Given the description of an element on the screen output the (x, y) to click on. 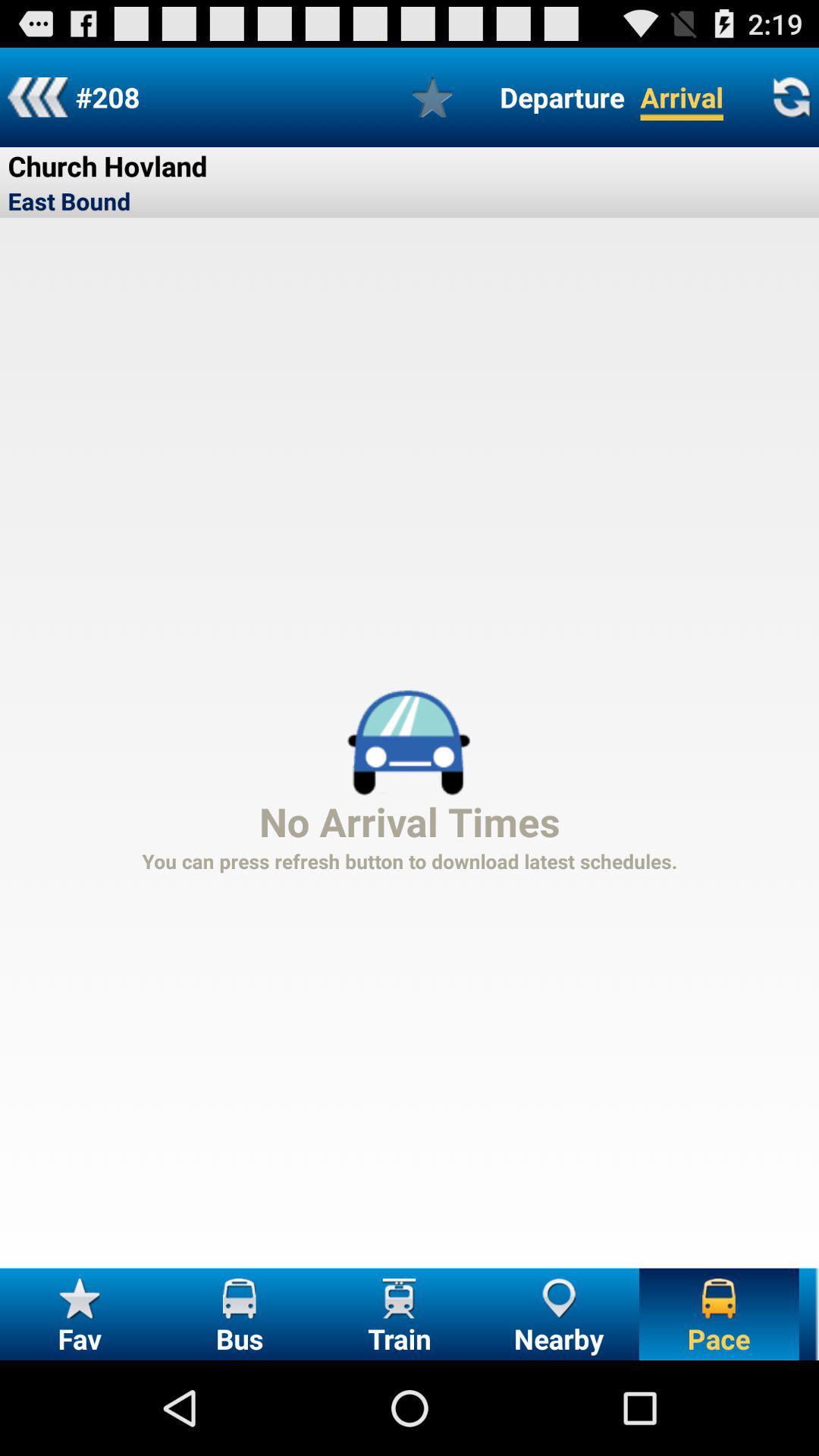
favorite the flight (432, 97)
